Given the description of an element on the screen output the (x, y) to click on. 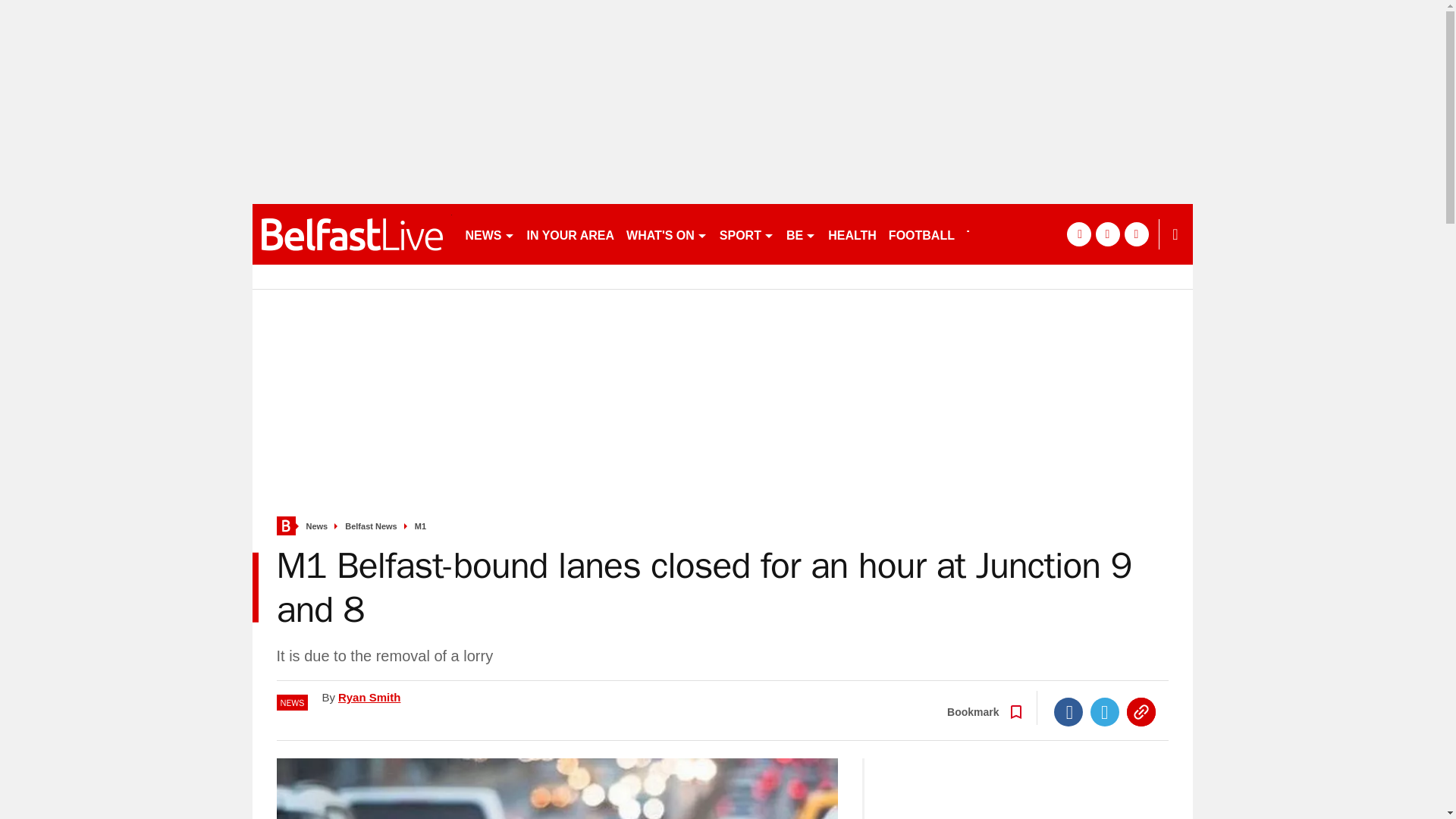
IN YOUR AREA (569, 233)
SPORT (746, 233)
NEWS (490, 233)
twitter (1106, 233)
facebook (1077, 233)
Twitter (1104, 711)
instagram (1136, 233)
Facebook (1068, 711)
belfastlive (351, 233)
WHAT'S ON (666, 233)
